Given the description of an element on the screen output the (x, y) to click on. 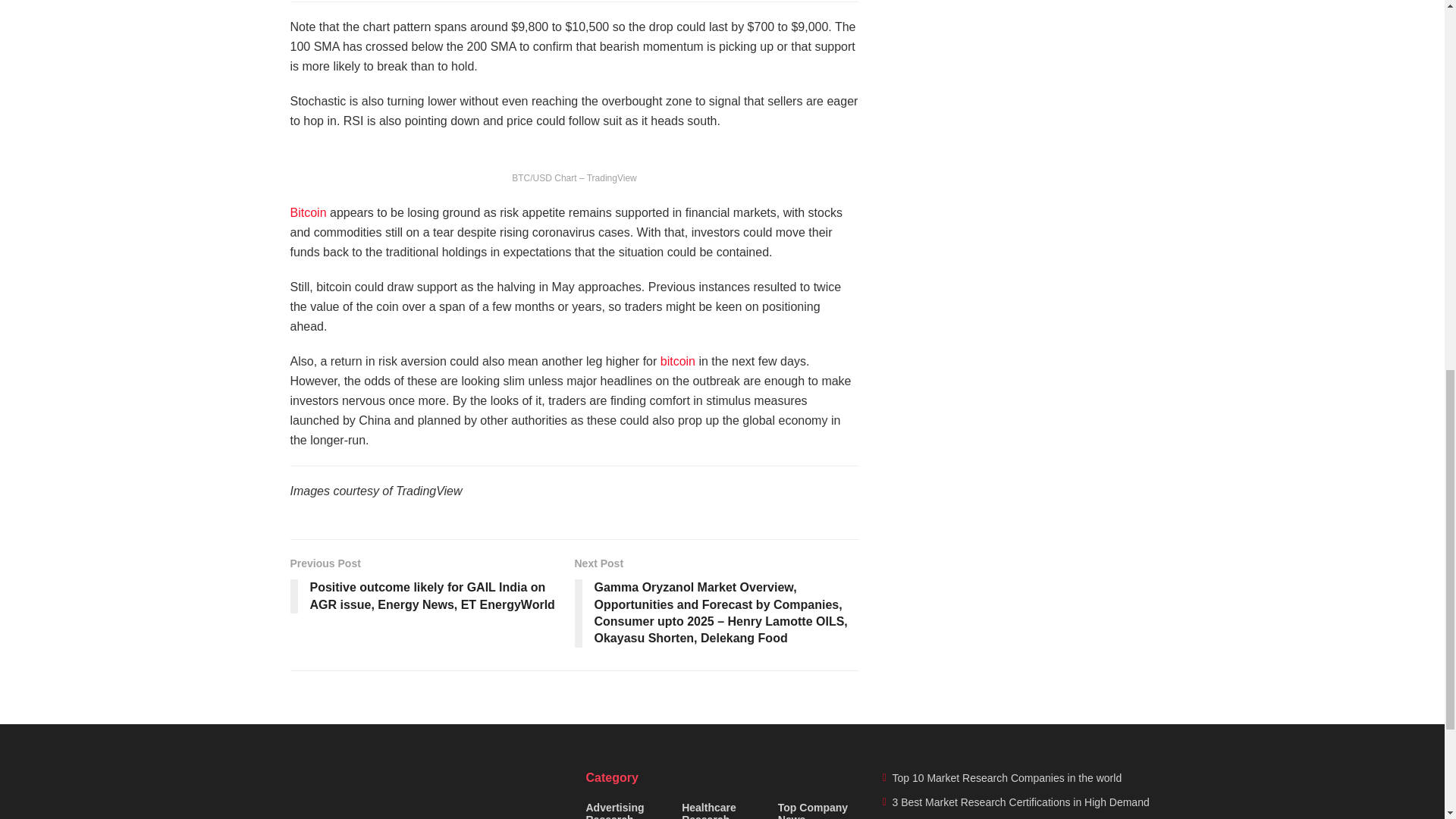
bitcoin (678, 360)
Advertising Research (625, 810)
Healthcare Research (721, 810)
Bitcoin (307, 212)
